Given the description of an element on the screen output the (x, y) to click on. 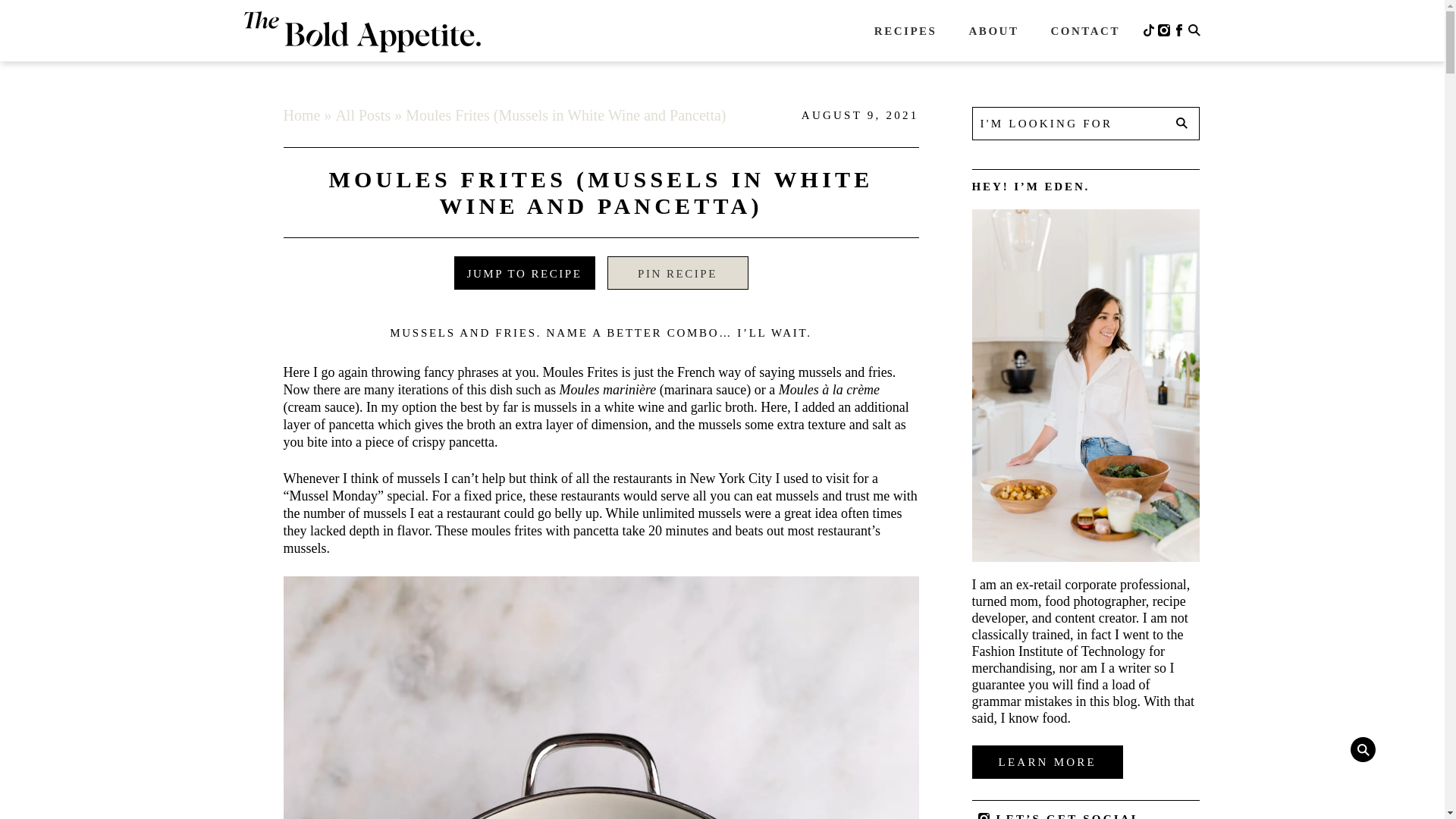
ABOUT (992, 42)
RECIPES (906, 42)
CONTACT (1084, 42)
